Given the description of an element on the screen output the (x, y) to click on. 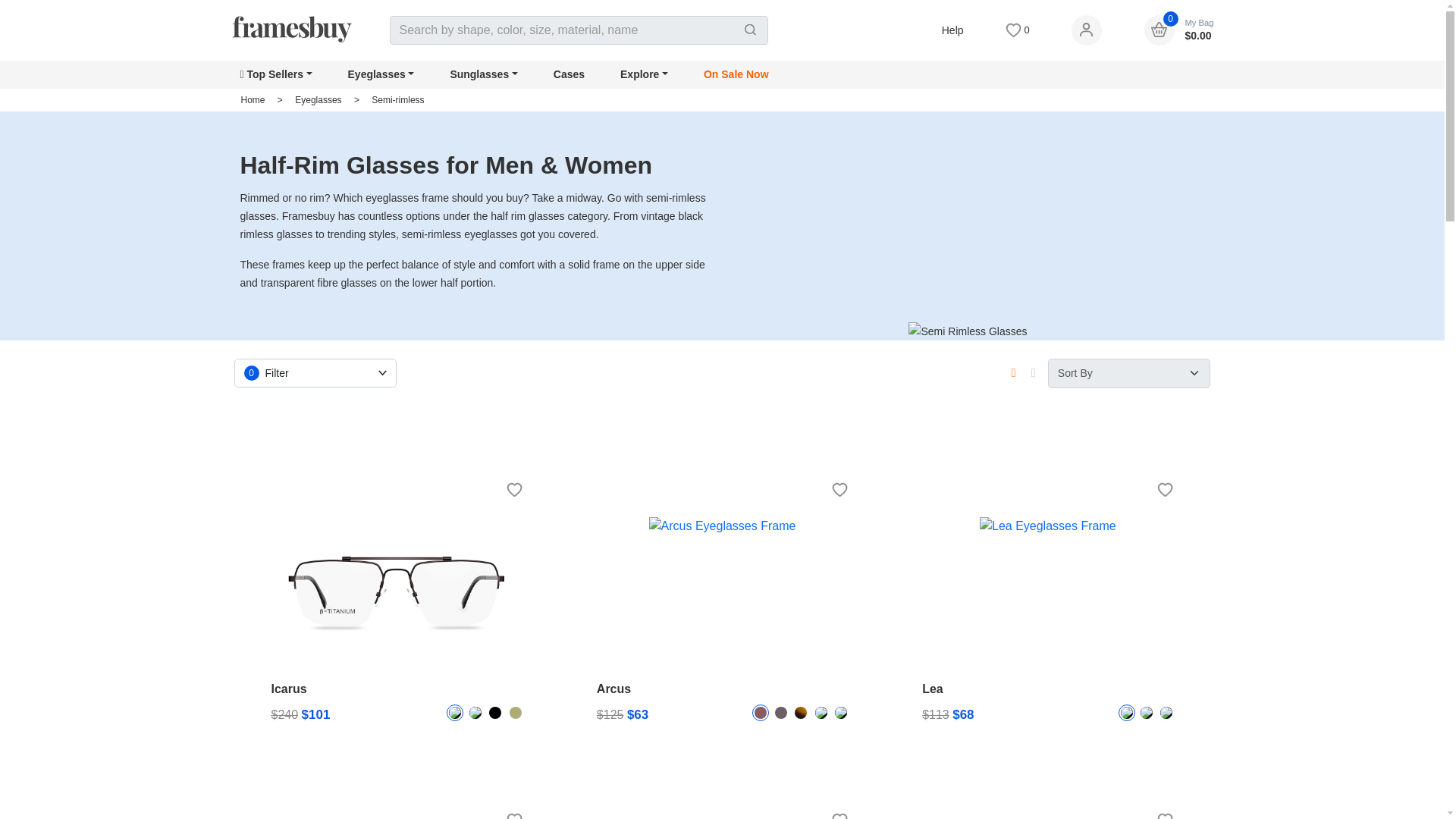
Gold pink combo (1126, 712)
Cases (569, 74)
Black Silver Combo (840, 712)
Purple (780, 712)
Black Gold Combo (821, 712)
Top Sellers (275, 74)
0 (1017, 30)
Gold (515, 712)
Gold Baby pink combo (1146, 712)
Maroon (760, 712)
